Given the description of an element on the screen output the (x, y) to click on. 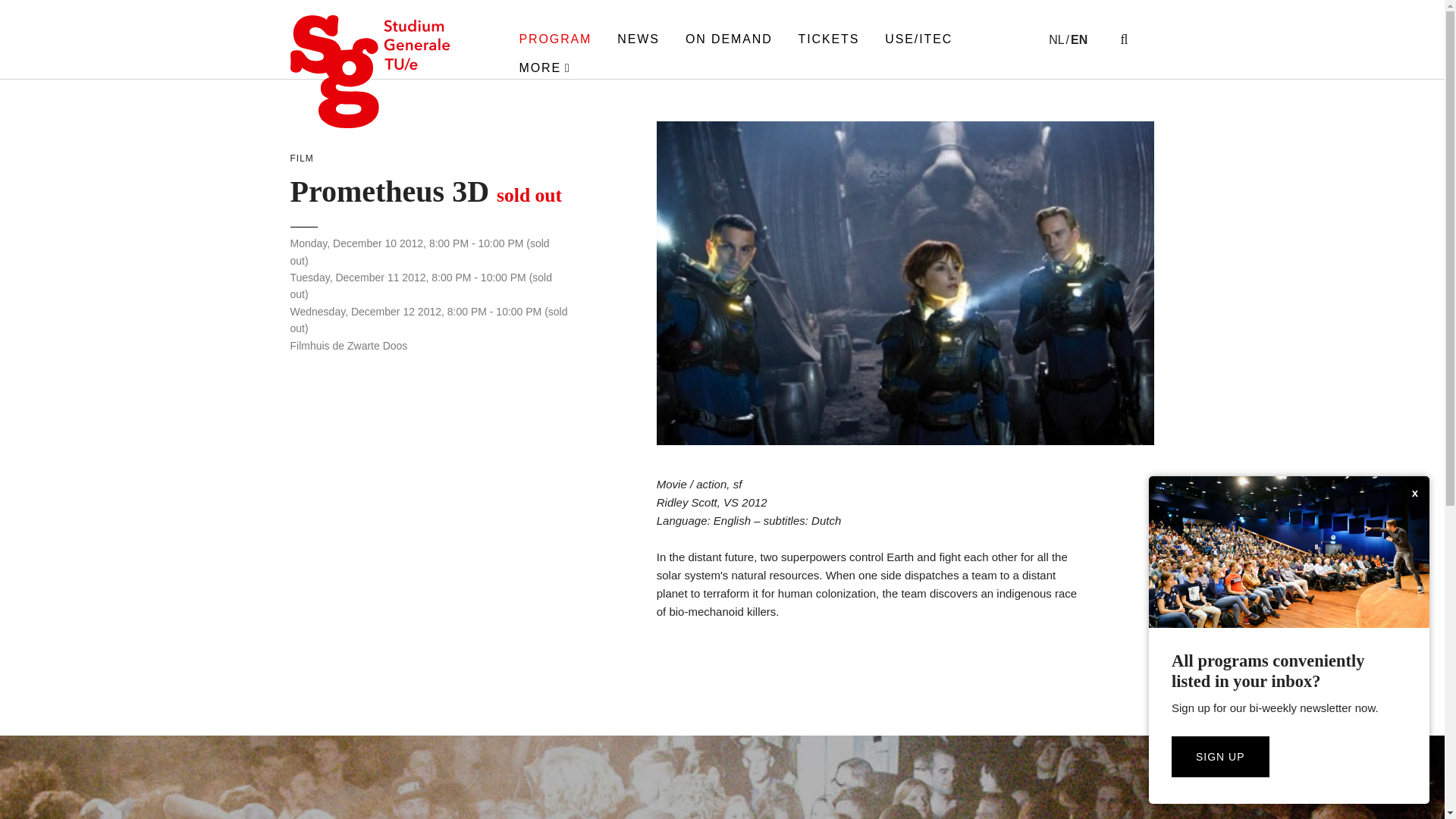
EN (1080, 39)
TICKETS (828, 39)
NL (1059, 39)
NEWS (638, 39)
Studium Generale (369, 71)
PROGRAM (554, 39)
ON DEMAND (728, 39)
SIGN UP (1220, 756)
